Given the description of an element on the screen output the (x, y) to click on. 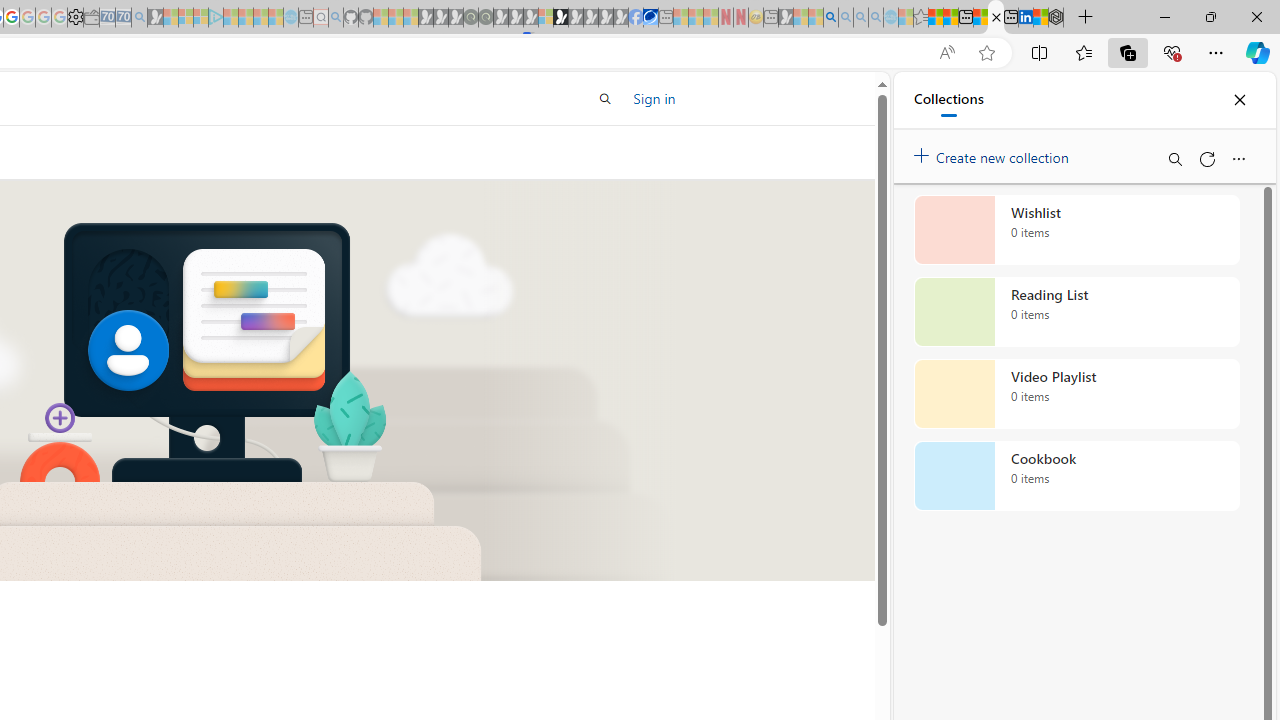
Cookbook collection, 0 items (1076, 475)
Training for Administrators | Microsoft Learn (996, 17)
AQI & Health | AirNow.gov (650, 17)
